Given the description of an element on the screen output the (x, y) to click on. 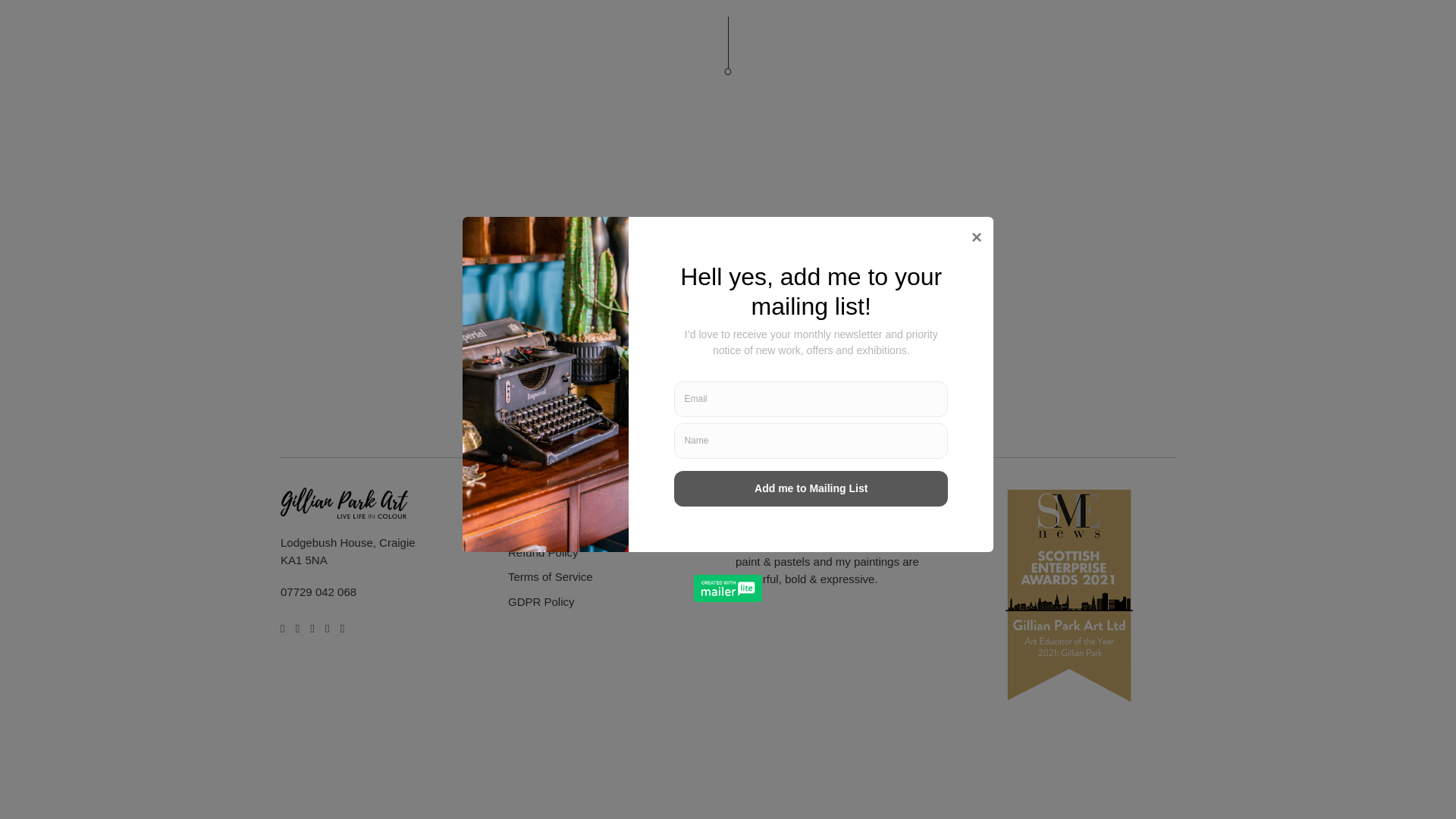
Maestro (1038, 763)
Mastercard (1077, 763)
Shop Pay (1117, 763)
Google Pay (997, 763)
Union Pay (1156, 763)
Apple Pay (958, 763)
American Express (919, 763)
Visa (1156, 790)
